Given the description of an element on the screen output the (x, y) to click on. 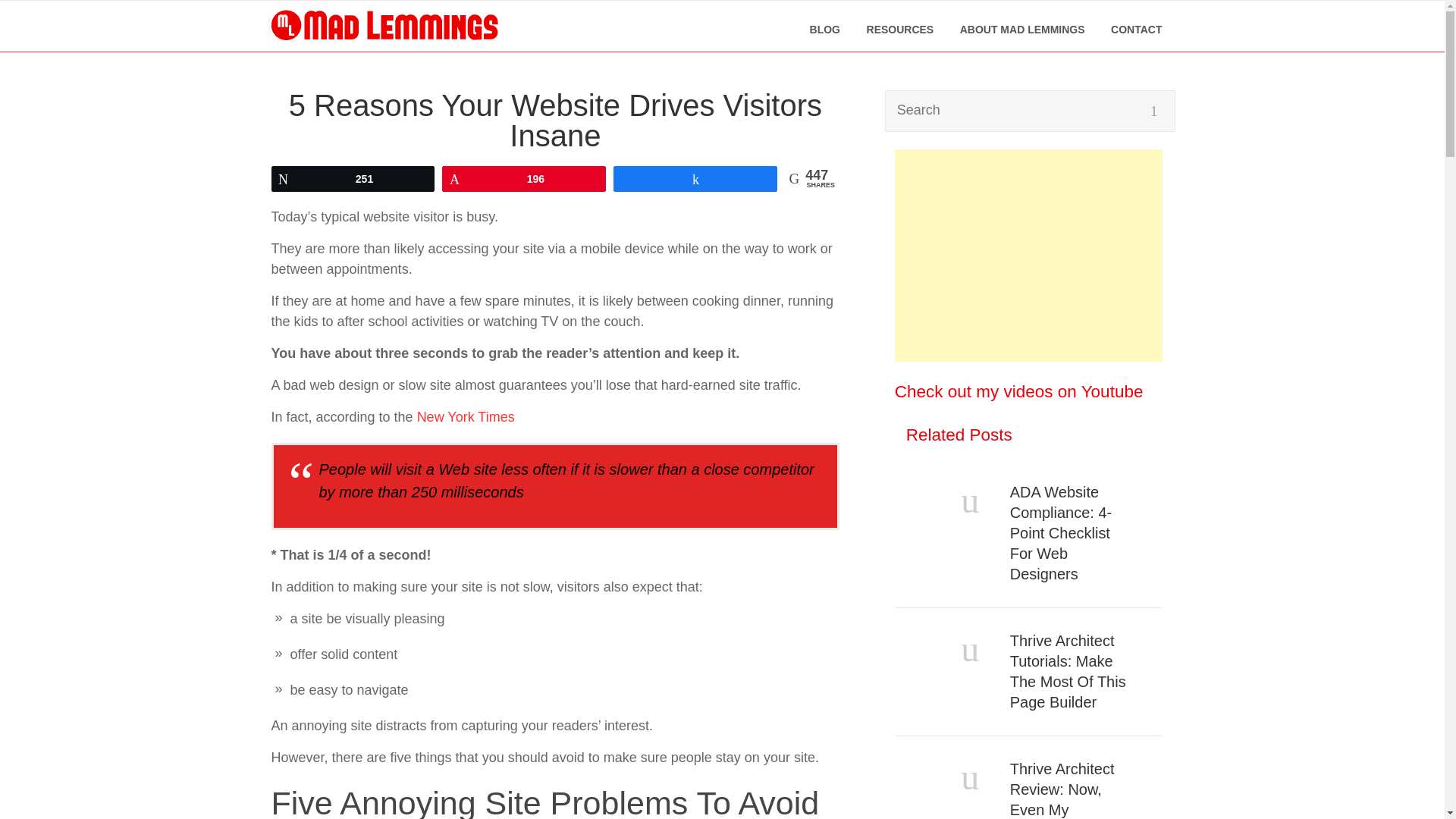
CONTACT (1135, 29)
ADA Website Compliance: 4-Point Checklist For Web Designers (1072, 533)
ABOUT MAD LEMMINGS (1021, 29)
196 (523, 178)
RESOURCES (900, 29)
New York Times (465, 417)
BLOG (824, 29)
251 (351, 178)
